Given the description of an element on the screen output the (x, y) to click on. 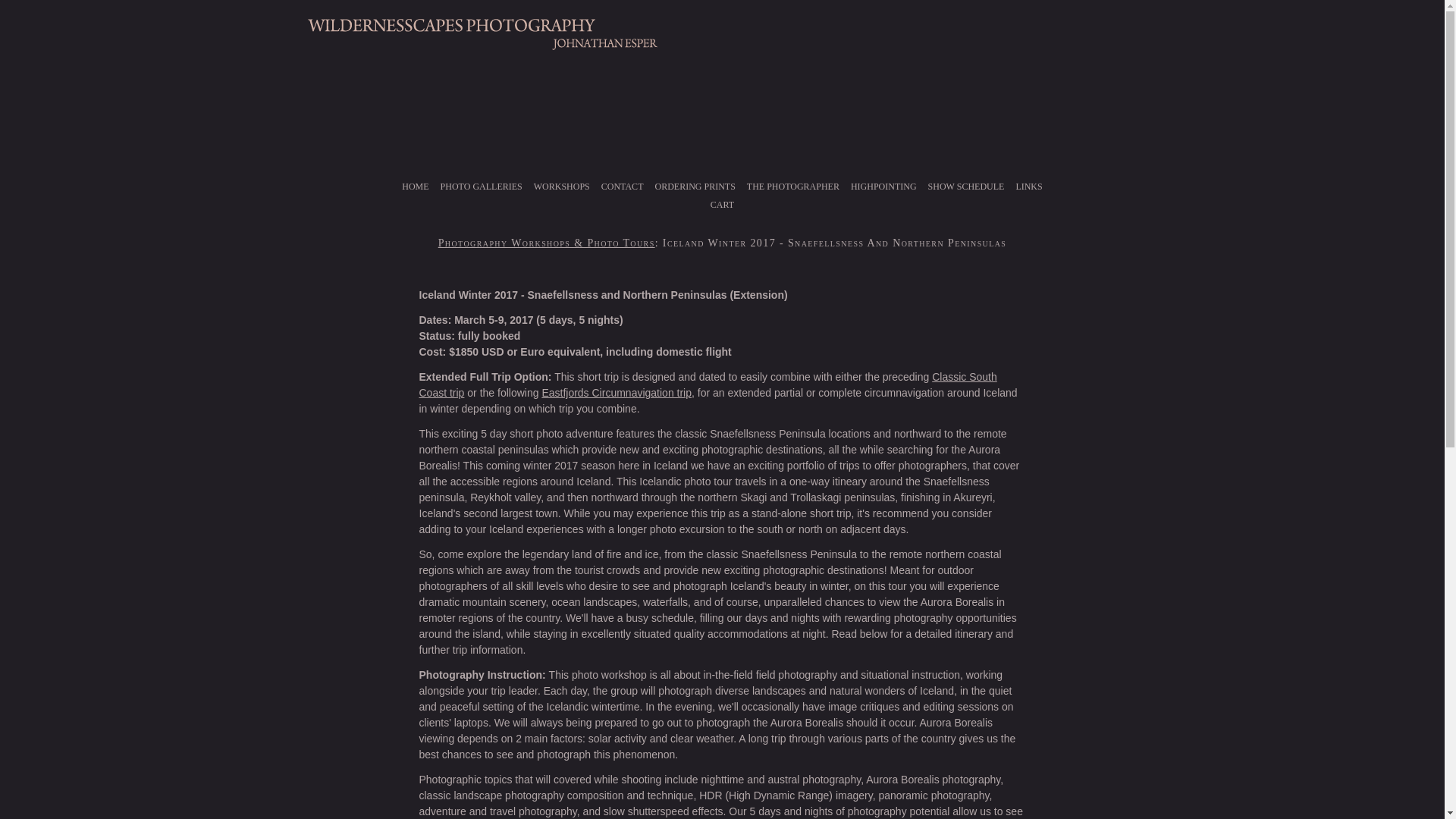
ORDERING PRINTS (694, 185)
LINKS (1028, 185)
HIGHPOINTING (883, 185)
THE PHOTOGRAPHER (793, 185)
WORKSHOPS (561, 185)
CONTACT (621, 185)
SHOW SCHEDULE (966, 185)
PHOTO GALLERIES (481, 185)
CART (722, 204)
HOME (414, 185)
Wildernesscapes Photography LLC, by Johnathan A. Esper (481, 44)
Classic South Coast trip (707, 384)
Eastfjords Circumnavigation trip (616, 392)
